Given the description of an element on the screen output the (x, y) to click on. 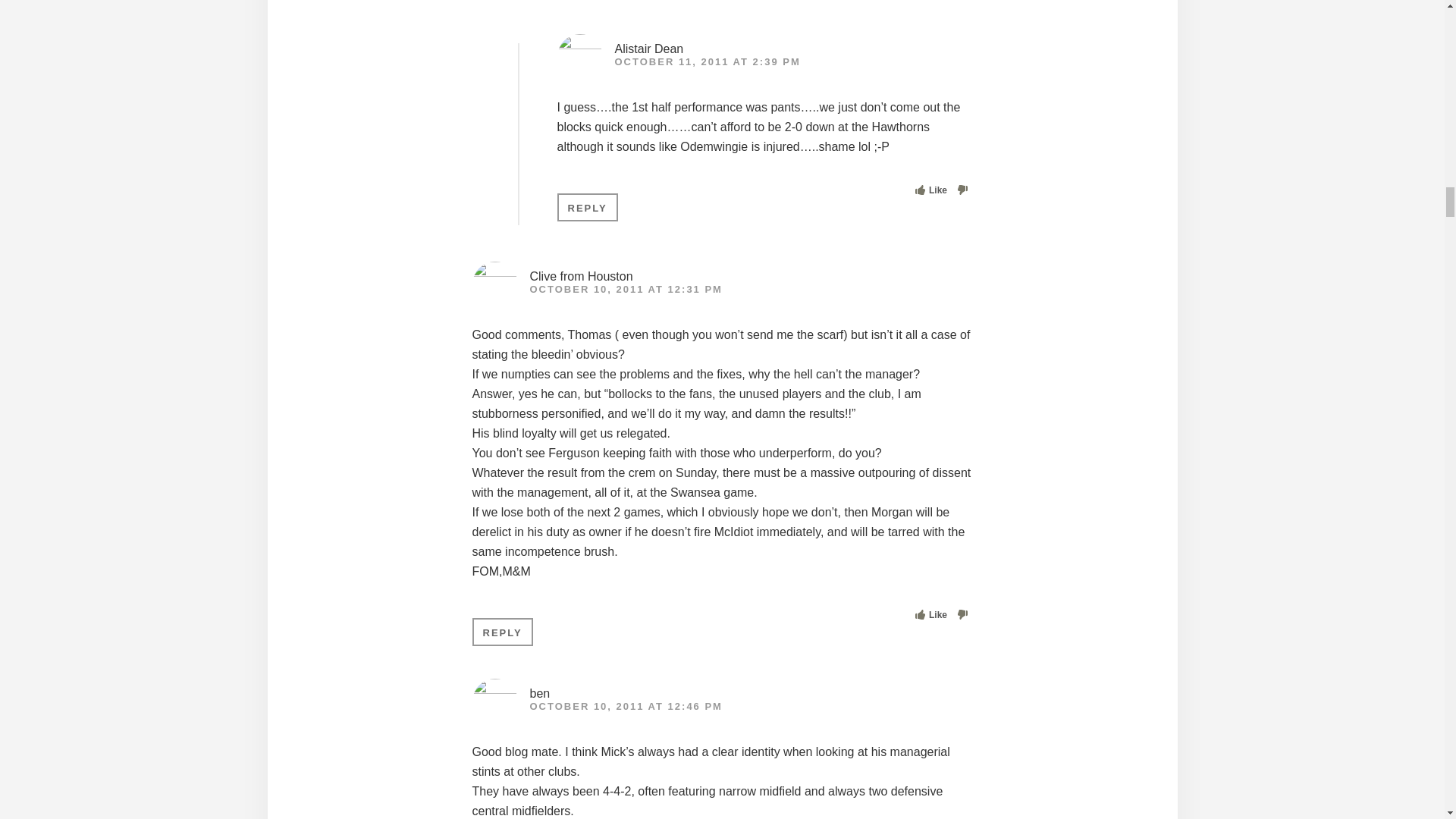
REPLY (586, 207)
OCTOBER 11, 2011 AT 2:39 PM (706, 61)
OCTOBER 10, 2011 AT 12:31 PM (625, 288)
REPLY (501, 632)
OCTOBER 10, 2011 AT 12:46 PM (625, 706)
